Given the description of an element on the screen output the (x, y) to click on. 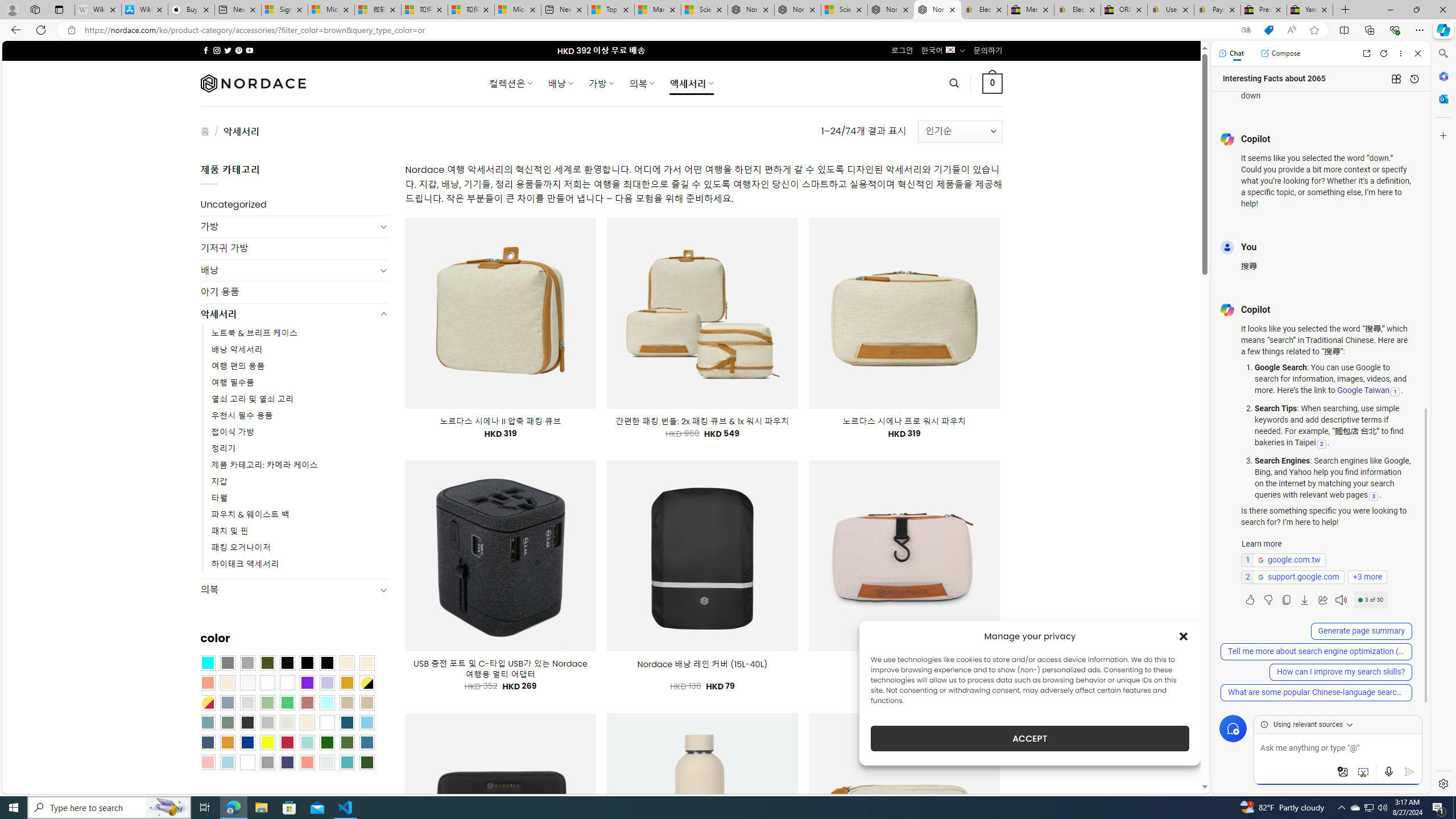
Marine life - MSN (656, 9)
Class: cmplz-close (1183, 636)
